Given the description of an element on the screen output the (x, y) to click on. 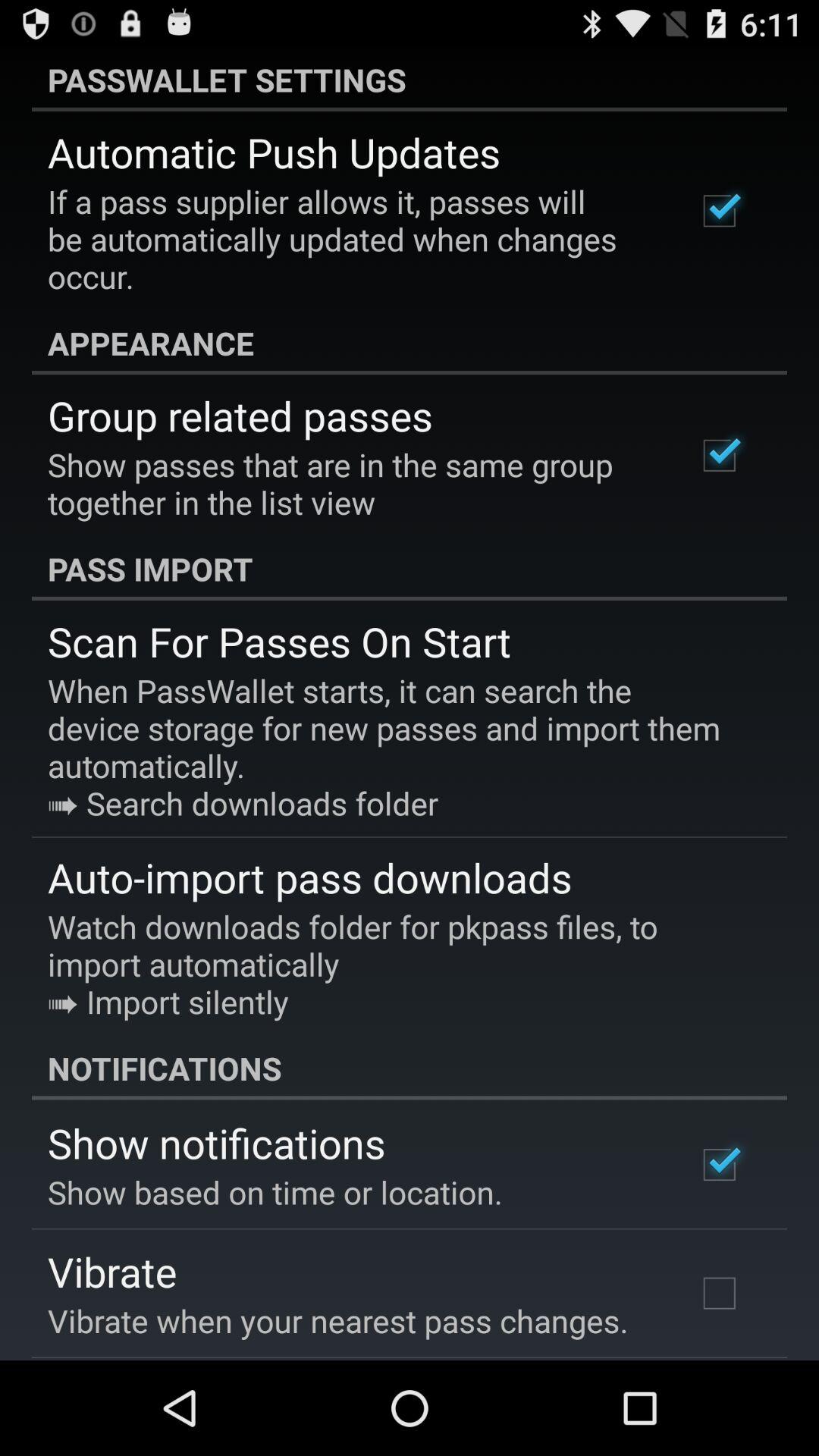
click icon below the notifications (216, 1142)
